Given the description of an element on the screen output the (x, y) to click on. 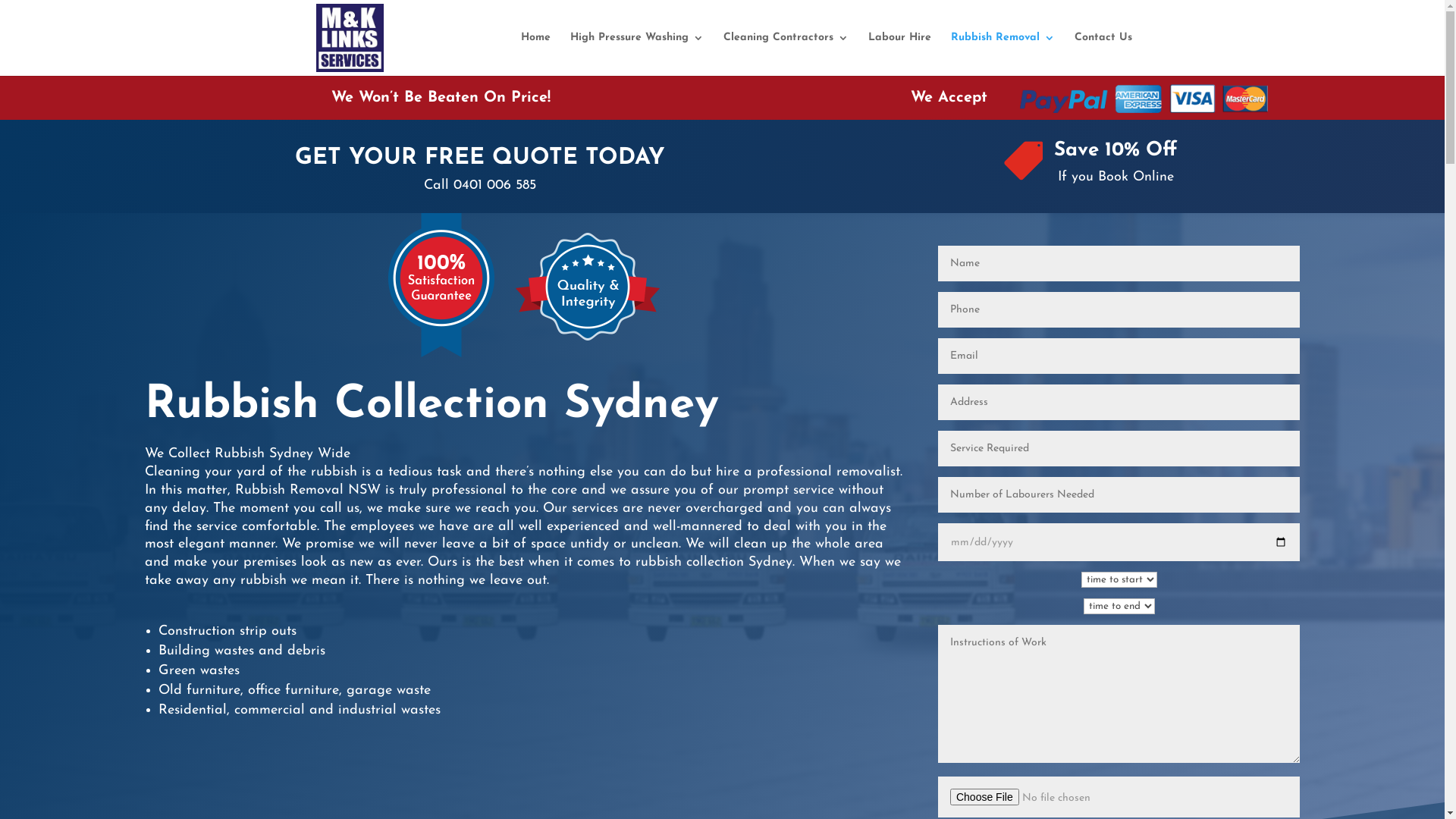
Contact Us Element type: text (1102, 53)
High Pressure Washing Element type: text (636, 53)
Call 0401 006 585 Element type: text (479, 185)
Rubbish Removal Element type: text (1002, 53)
Home Element type: text (534, 53)
Cleaning Contractors Element type: text (785, 53)
Labour Hire Element type: text (898, 53)
